Given the description of an element on the screen output the (x, y) to click on. 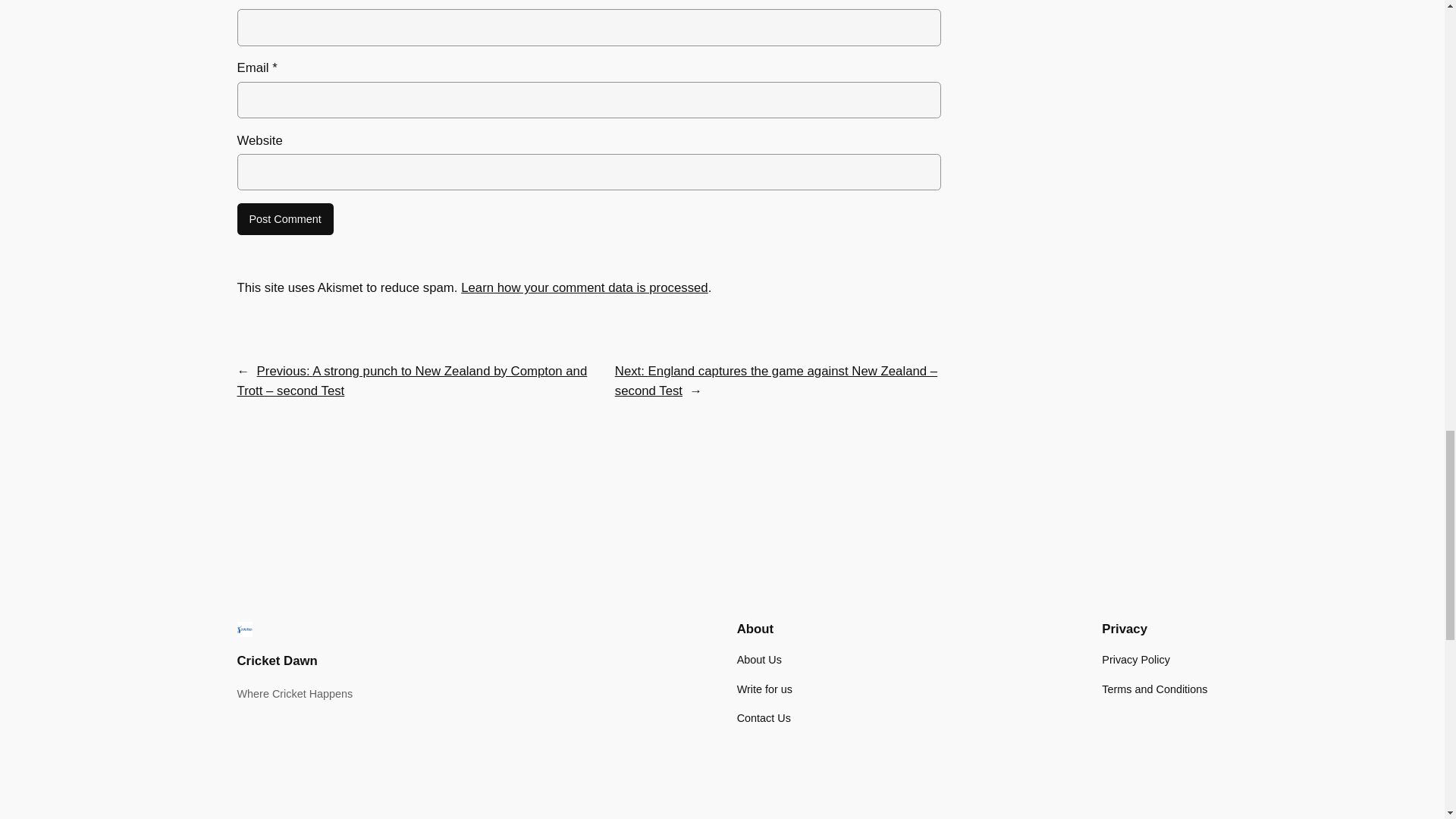
About Us (758, 659)
Post Comment (284, 219)
Learn how your comment data is processed (584, 287)
Post Comment (284, 219)
Cricket Dawn (276, 660)
